Given the description of an element on the screen output the (x, y) to click on. 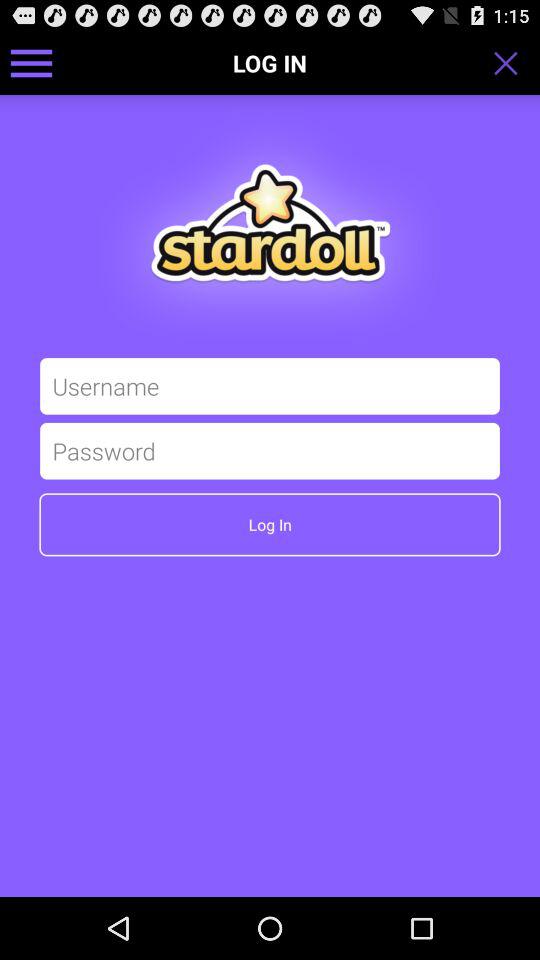
open icon to the left of log in icon (31, 62)
